Given the description of an element on the screen output the (x, y) to click on. 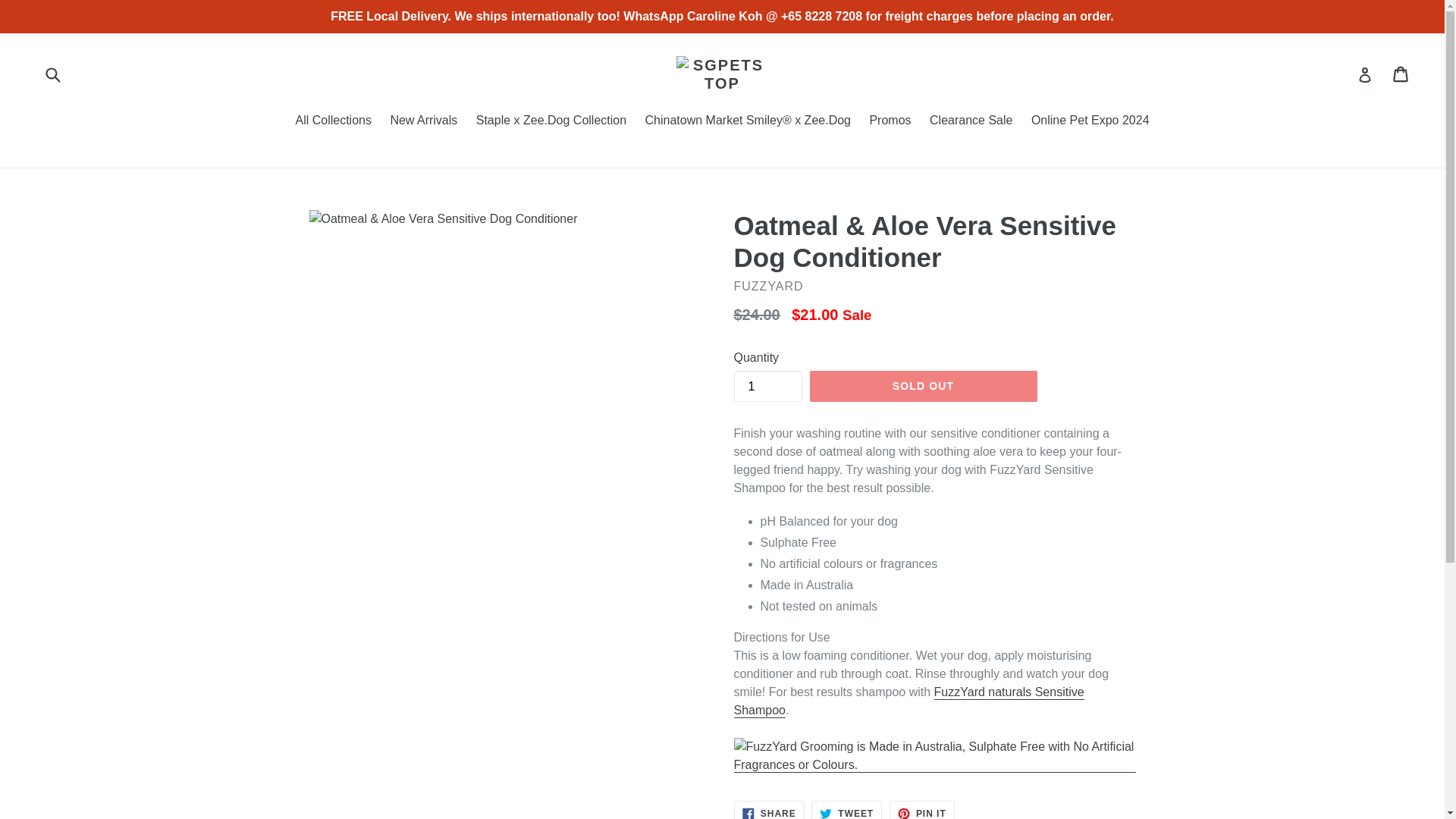
Clearance Sale (970, 121)
Pin on Pinterest (922, 809)
SOLD OUT (922, 386)
Promos (889, 121)
All Collections (332, 121)
Staple x Zee.Dog Collection (846, 809)
Online Pet Expo 2024 (550, 121)
Share on Facebook (1090, 121)
Tweet on Twitter (769, 809)
New Arrivals (769, 809)
FuzzYard naturals Sensitive Shampoo (846, 809)
